Given the description of an element on the screen output the (x, y) to click on. 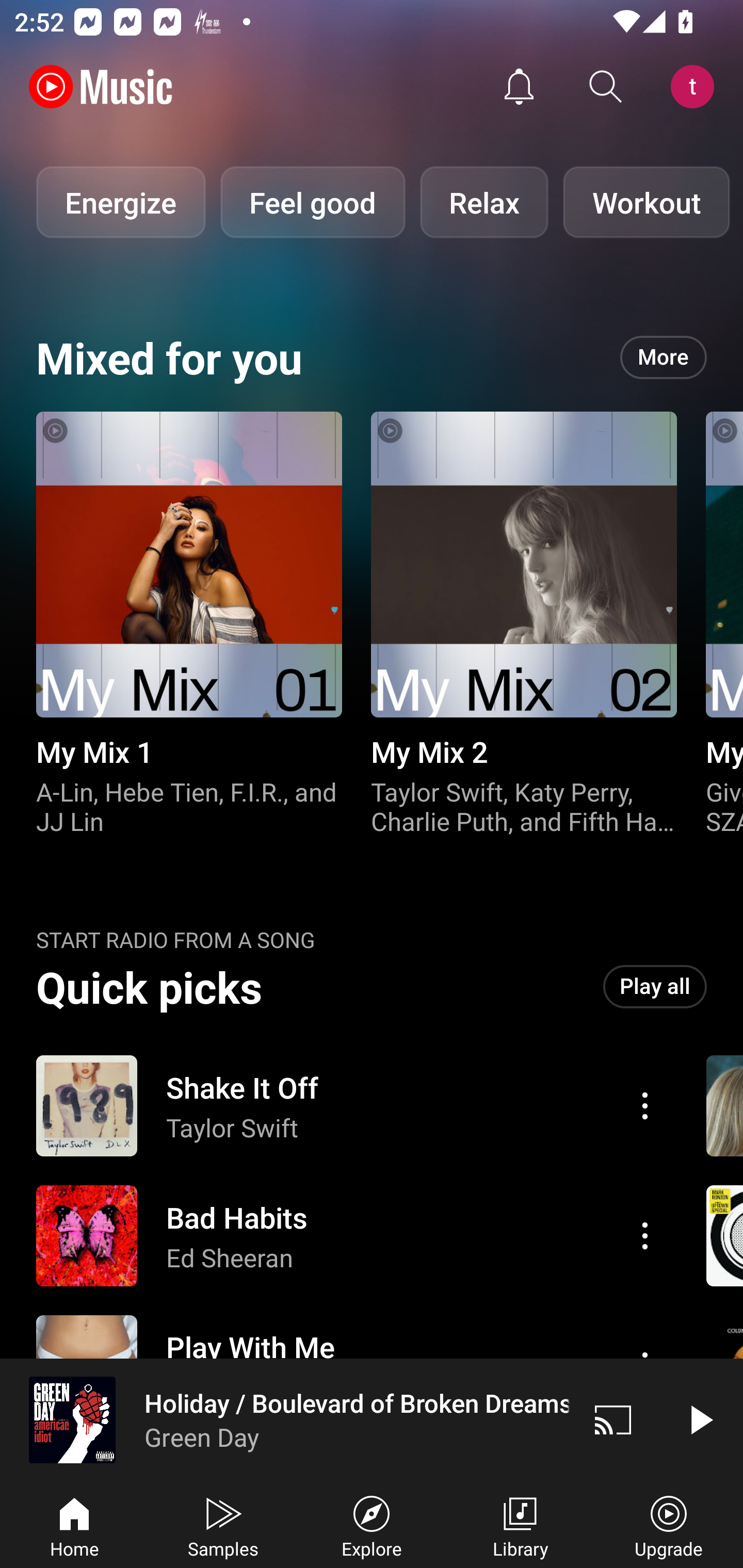
Activity feed (518, 86)
Search (605, 86)
Account (696, 86)
Action menu (349, 1106)
Action menu (644, 1106)
Action menu (349, 1236)
Action menu (644, 1235)
Holiday / Boulevard of Broken Dreams Green Day (284, 1419)
Cast. Disconnected (612, 1419)
Play video (699, 1419)
Home (74, 1524)
Samples (222, 1524)
Explore (371, 1524)
Library (519, 1524)
Upgrade (668, 1524)
